Given the description of an element on the screen output the (x, y) to click on. 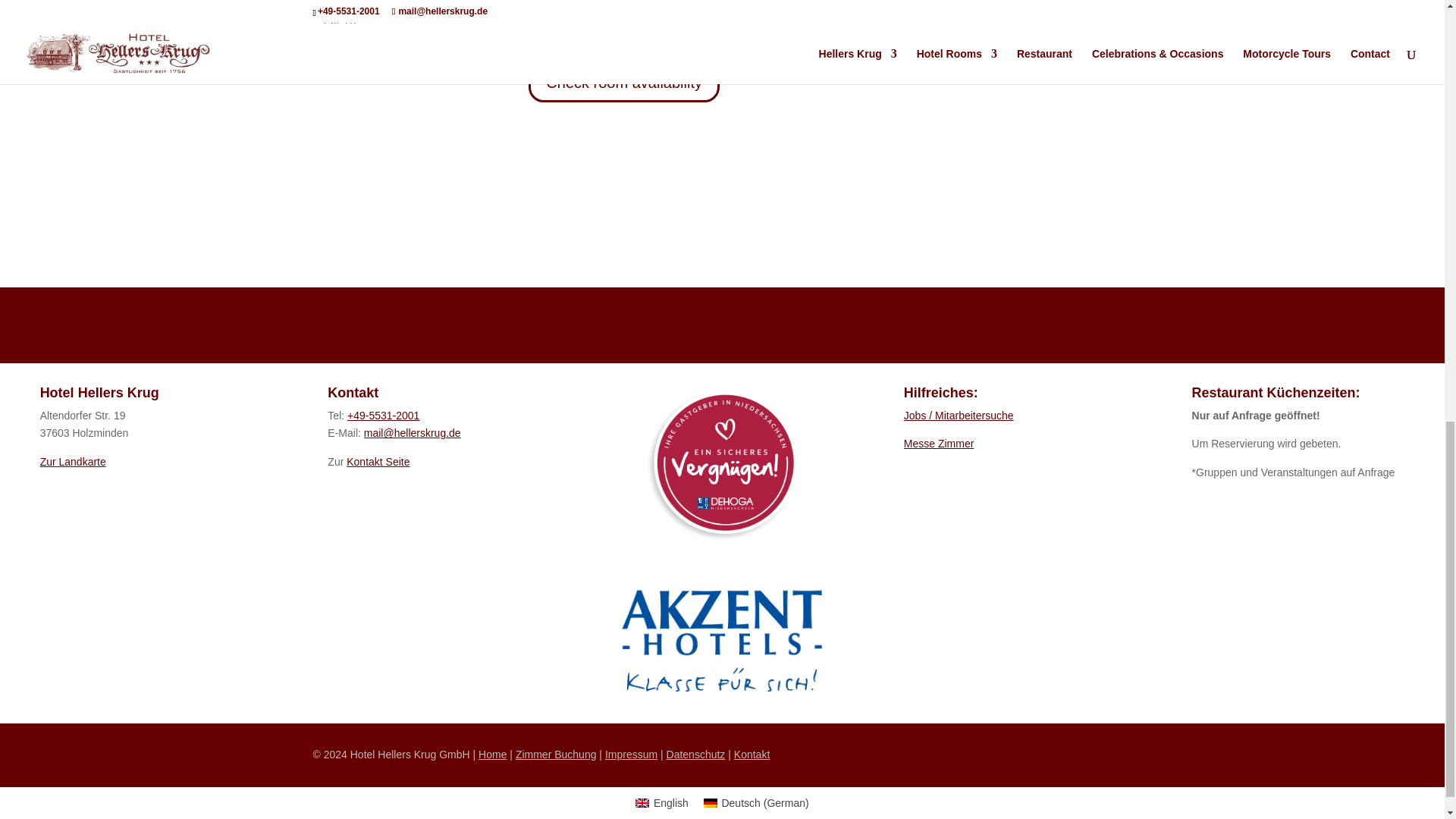
Check room availability (623, 82)
